Given the description of an element on the screen output the (x, y) to click on. 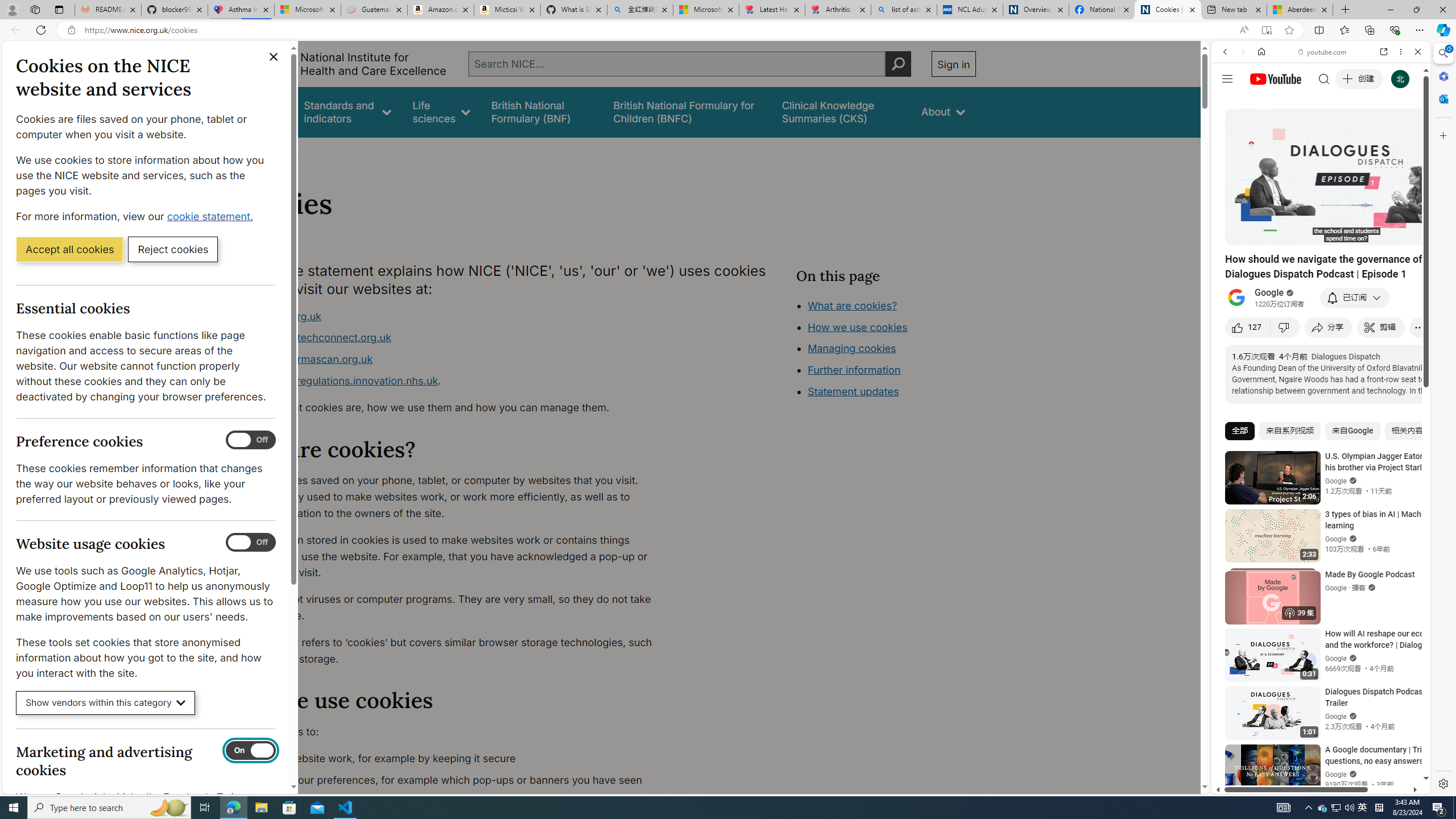
Accept all cookies (69, 248)
Music (1320, 309)
you (1315, 755)
